Given the description of an element on the screen output the (x, y) to click on. 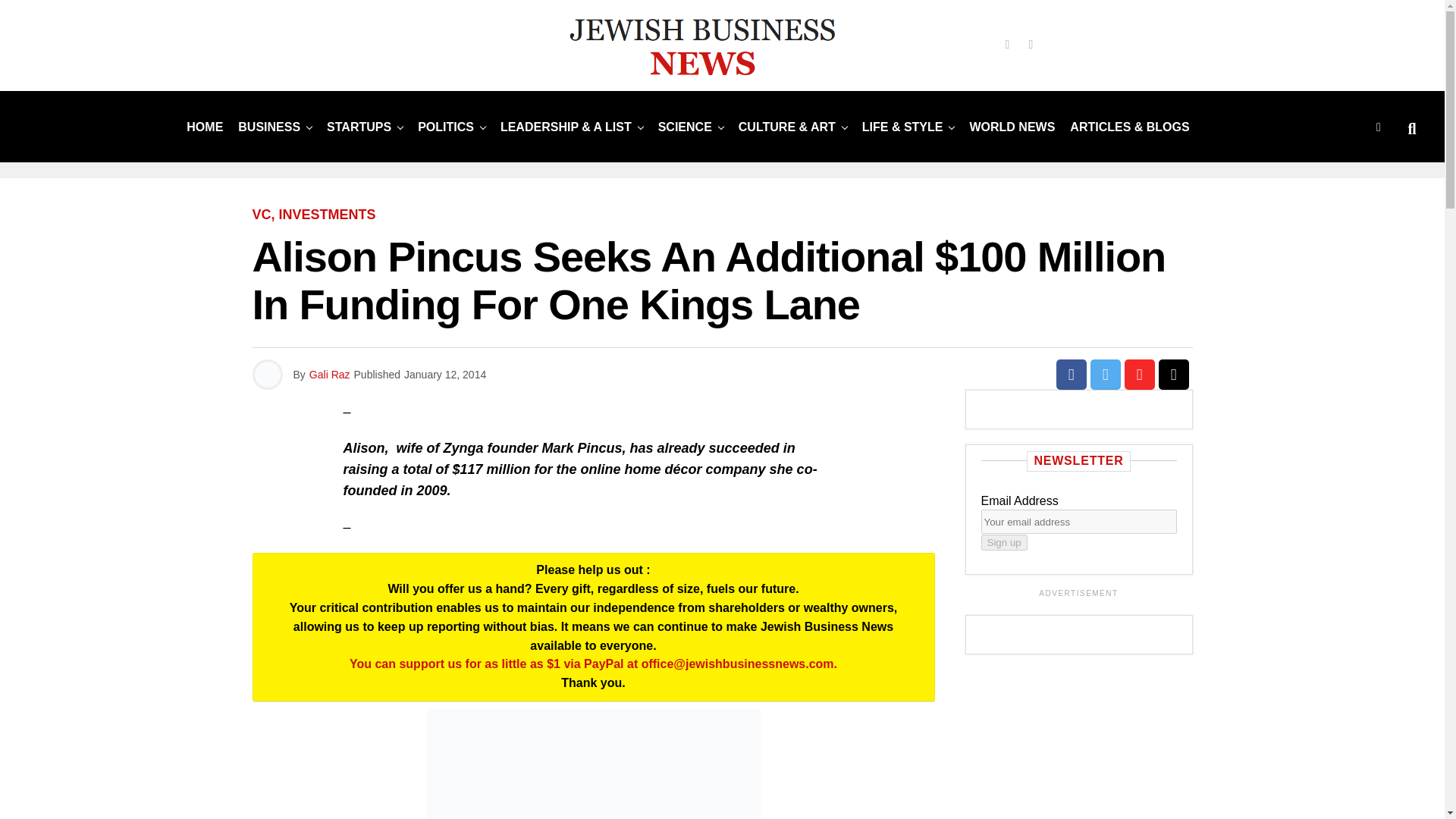
New Research (684, 126)
Sign up (1004, 542)
Posts by Gali Raz (329, 374)
Share on Flipboard (1139, 374)
Tweet This Post (1105, 374)
Share on Facebook (1070, 374)
